Given the description of an element on the screen output the (x, y) to click on. 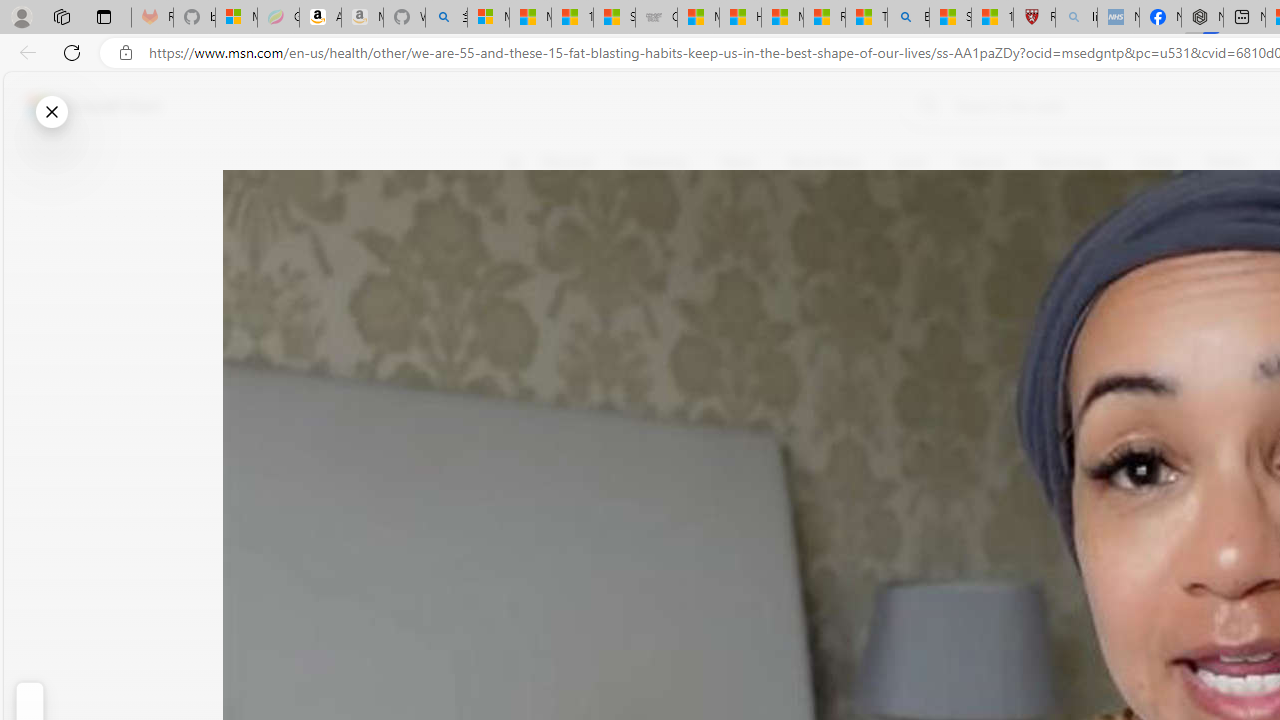
Local (910, 162)
Combat Siege (656, 17)
Science (980, 162)
Robert H. Shmerling, MD - Harvard Health (1033, 17)
